Given the description of an element on the screen output the (x, y) to click on. 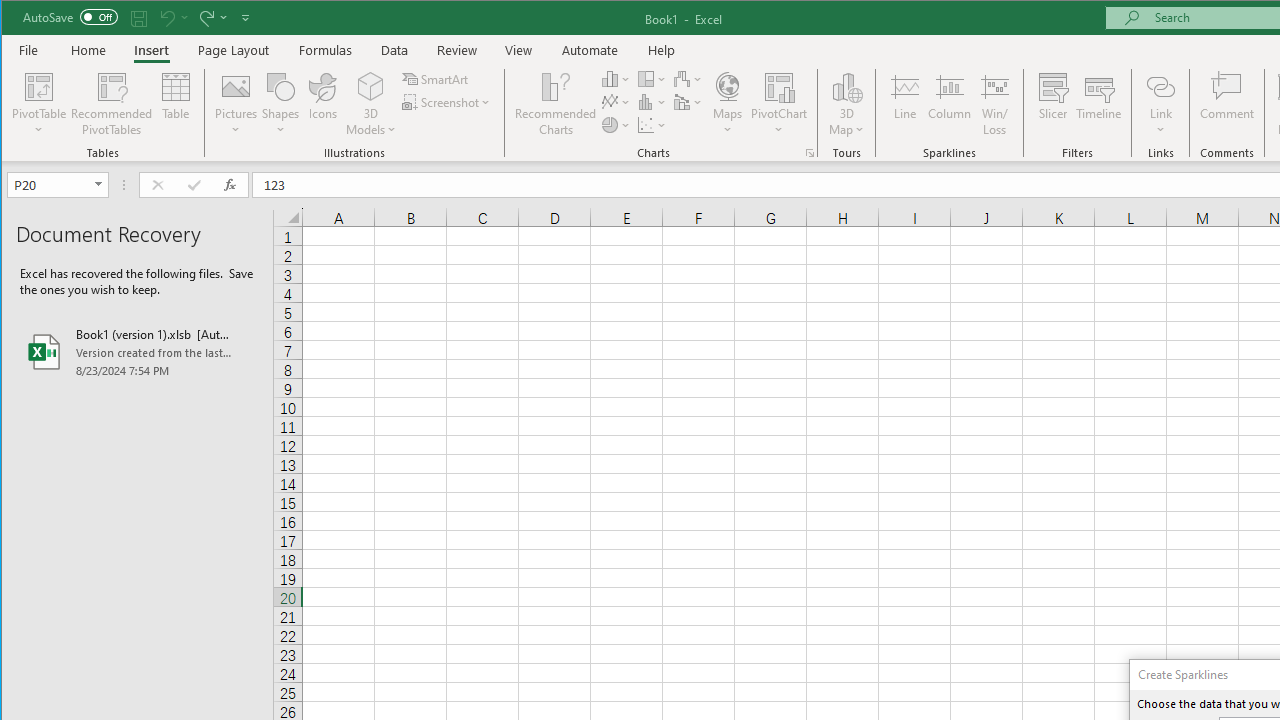
Insert Combo Chart (688, 101)
3D Models (371, 86)
PivotChart (779, 104)
Insert Waterfall, Funnel, Stock, Surface, or Radar Chart (688, 78)
PivotChart (779, 86)
SmartArt... (436, 78)
Insert Column or Bar Chart (616, 78)
Link (1160, 104)
